Given the description of an element on the screen output the (x, y) to click on. 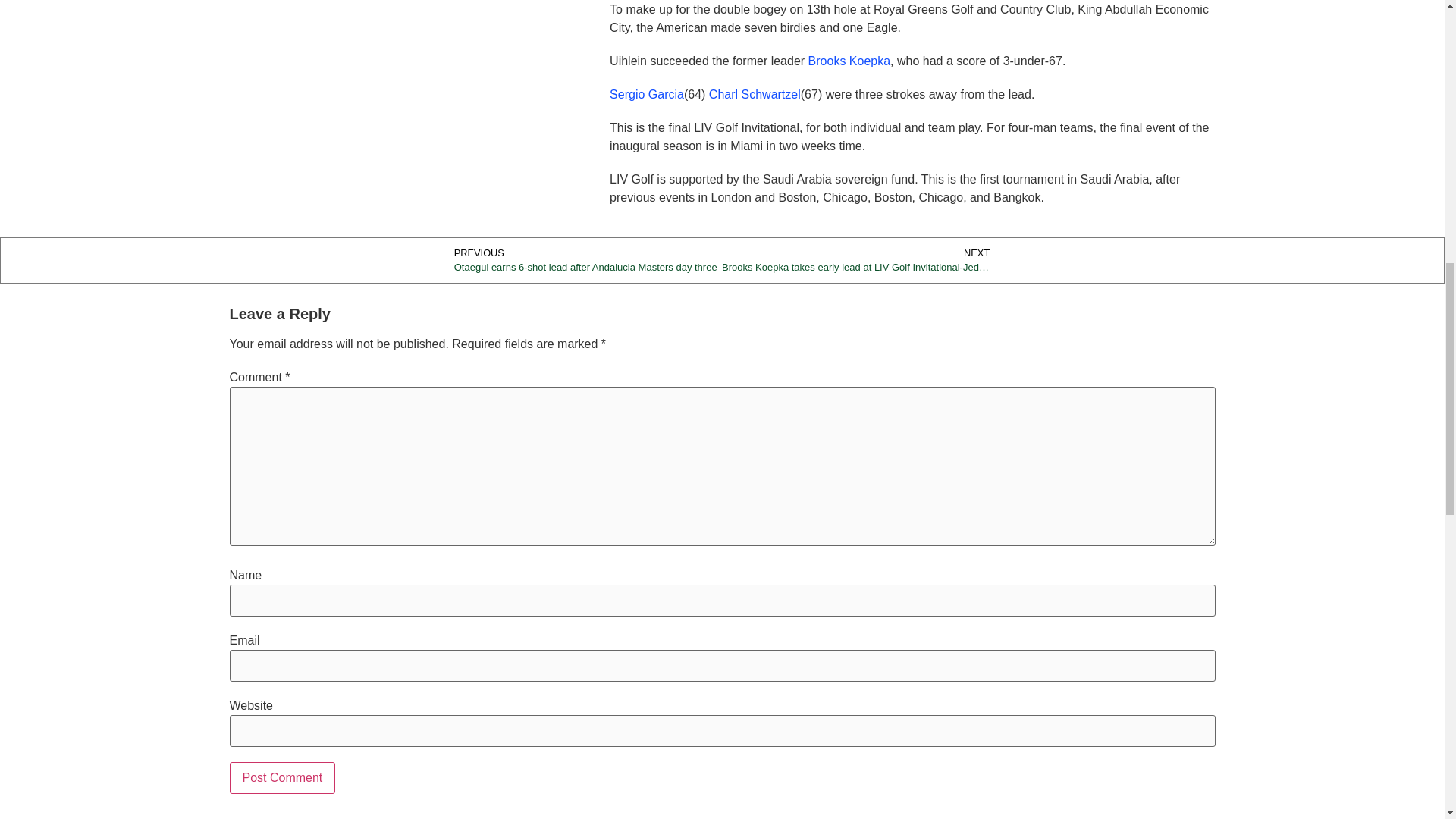
Brooks Koepka (849, 60)
Post Comment (281, 777)
Post Comment (281, 777)
Sergio Garcia (647, 93)
Charl Schwartzel (754, 93)
